Given the description of an element on the screen output the (x, y) to click on. 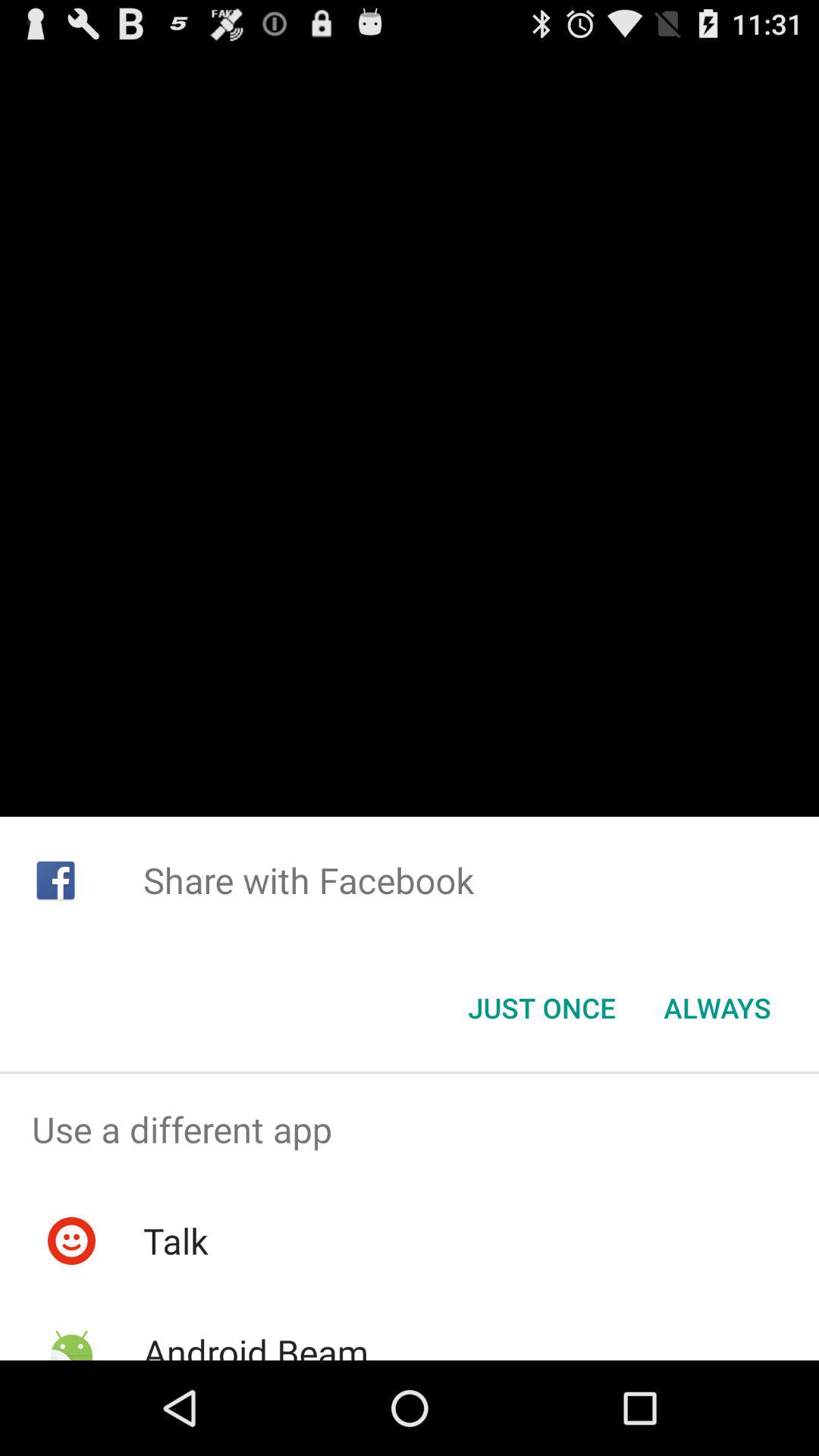
scroll to always icon (717, 1007)
